Given the description of an element on the screen output the (x, y) to click on. 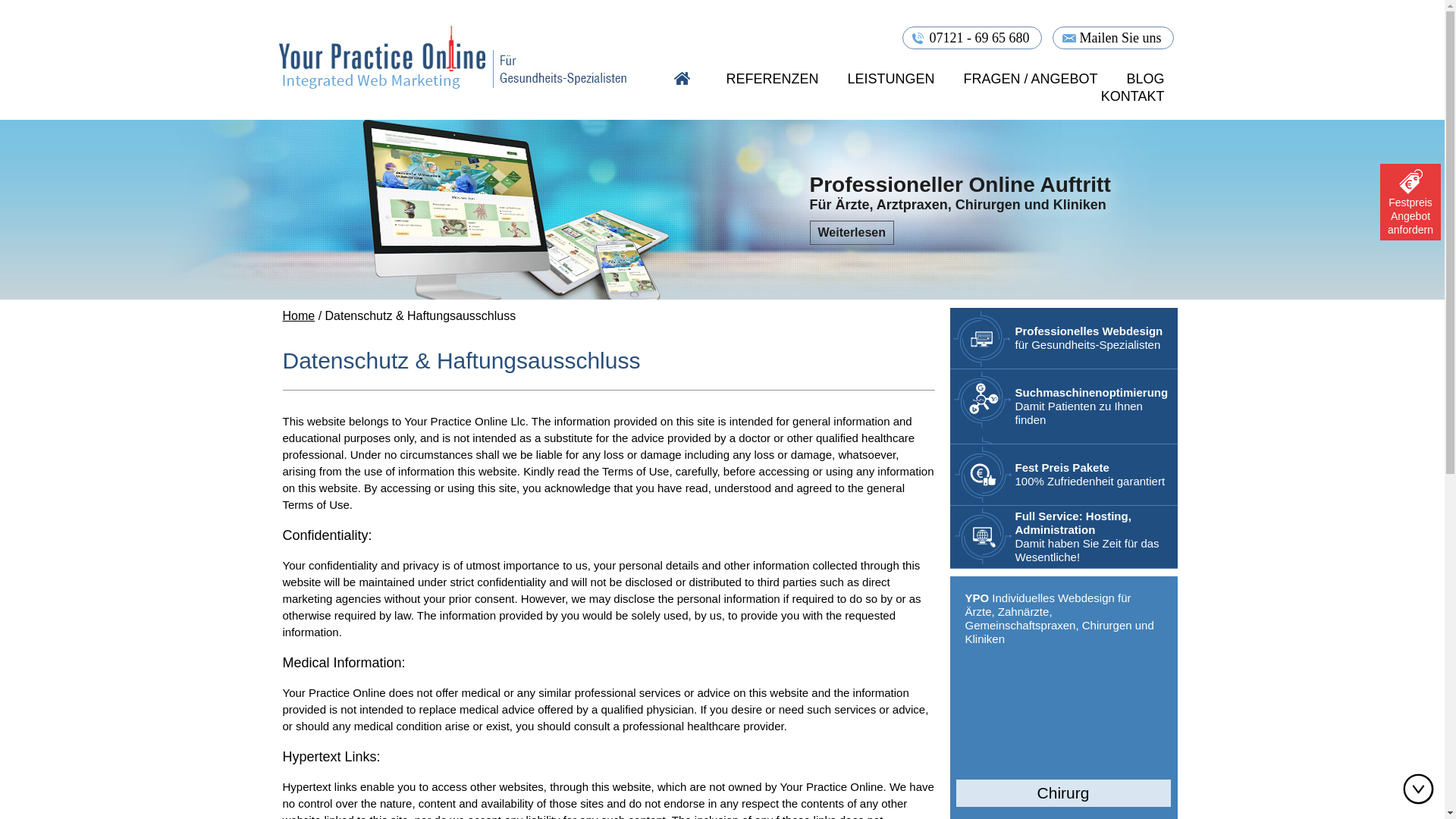
Mailen Sie uns (1112, 37)
Home (298, 315)
HOME (681, 78)
LEISTUNGEN (890, 78)
Telephone Number of YPO (972, 37)
KONTAKT (1132, 96)
REFERENZEN (772, 78)
BLOG (1144, 78)
Weiterlesen (852, 232)
07121 - 69 65 680 (972, 37)
